Given the description of an element on the screen output the (x, y) to click on. 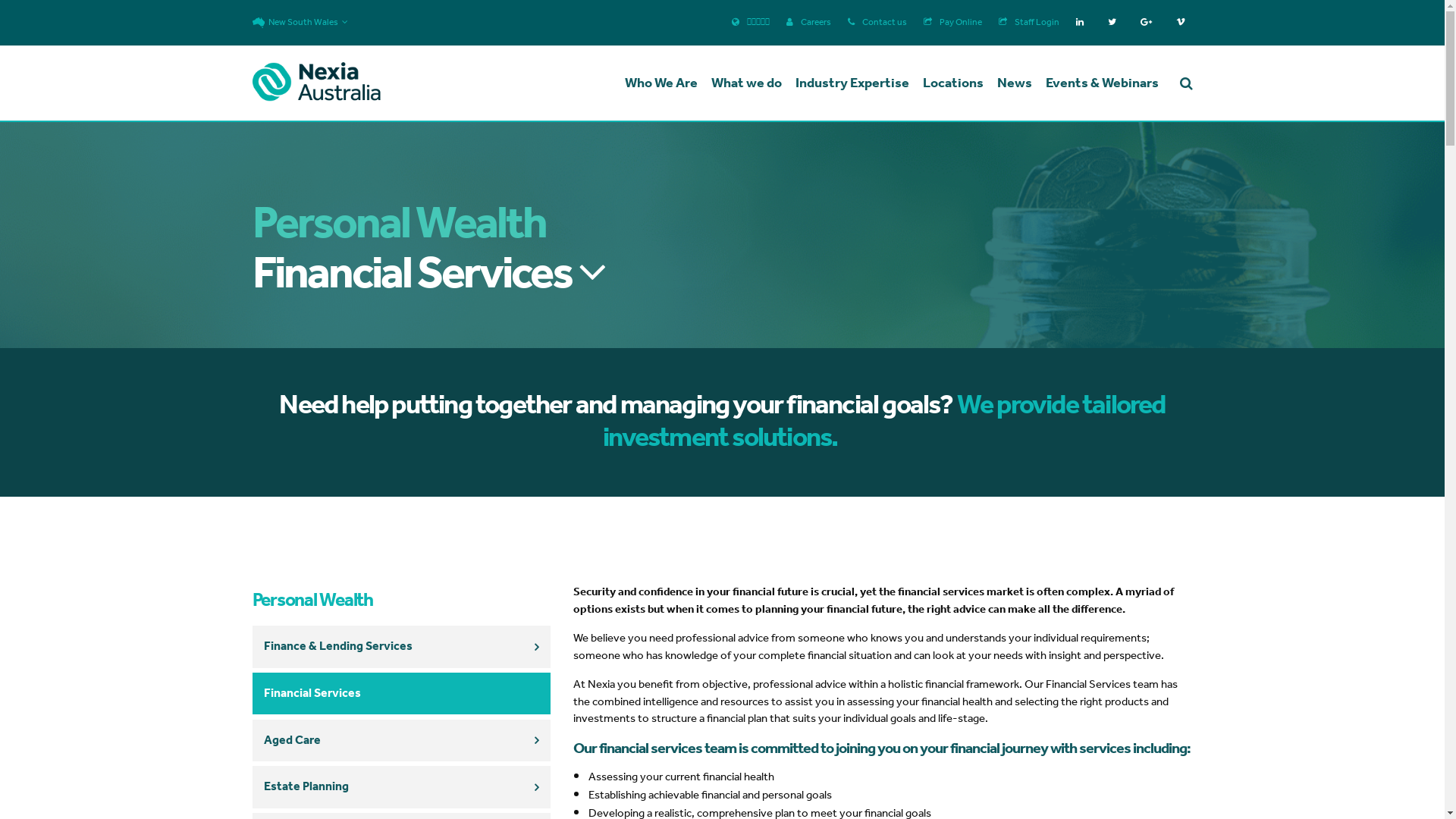
Careers Element type: text (807, 22)
Estate Planning Element type: text (401, 786)
Financial Services Element type: text (401, 693)
Finance & Lending Services Element type: text (401, 646)
Linkedin Element type: text (1082, 21)
We provide tailored investment solutions.  Element type: text (883, 421)
Google Plus Element type: text (1149, 21)
Twitter Element type: text (1115, 21)
Financial Services Element type: text (427, 275)
Search Element type: text (715, 460)
Log in Element type: text (716, 463)
Aged Care Element type: text (401, 739)
Staff Login Element type: text (1027, 22)
Contact us Element type: text (876, 22)
Who We Are Element type: text (660, 86)
News Element type: text (1013, 86)
Industry Expertise Element type: text (851, 86)
Skip to main content Element type: text (0, 0)
What we do Element type: text (746, 86)
Locations Element type: text (952, 86)
Pay Online Element type: text (952, 22)
Vimeo Element type: text (1183, 21)
Events & Webinars Element type: text (1100, 86)
Personal Wealth Element type: text (401, 600)
